Given the description of an element on the screen output the (x, y) to click on. 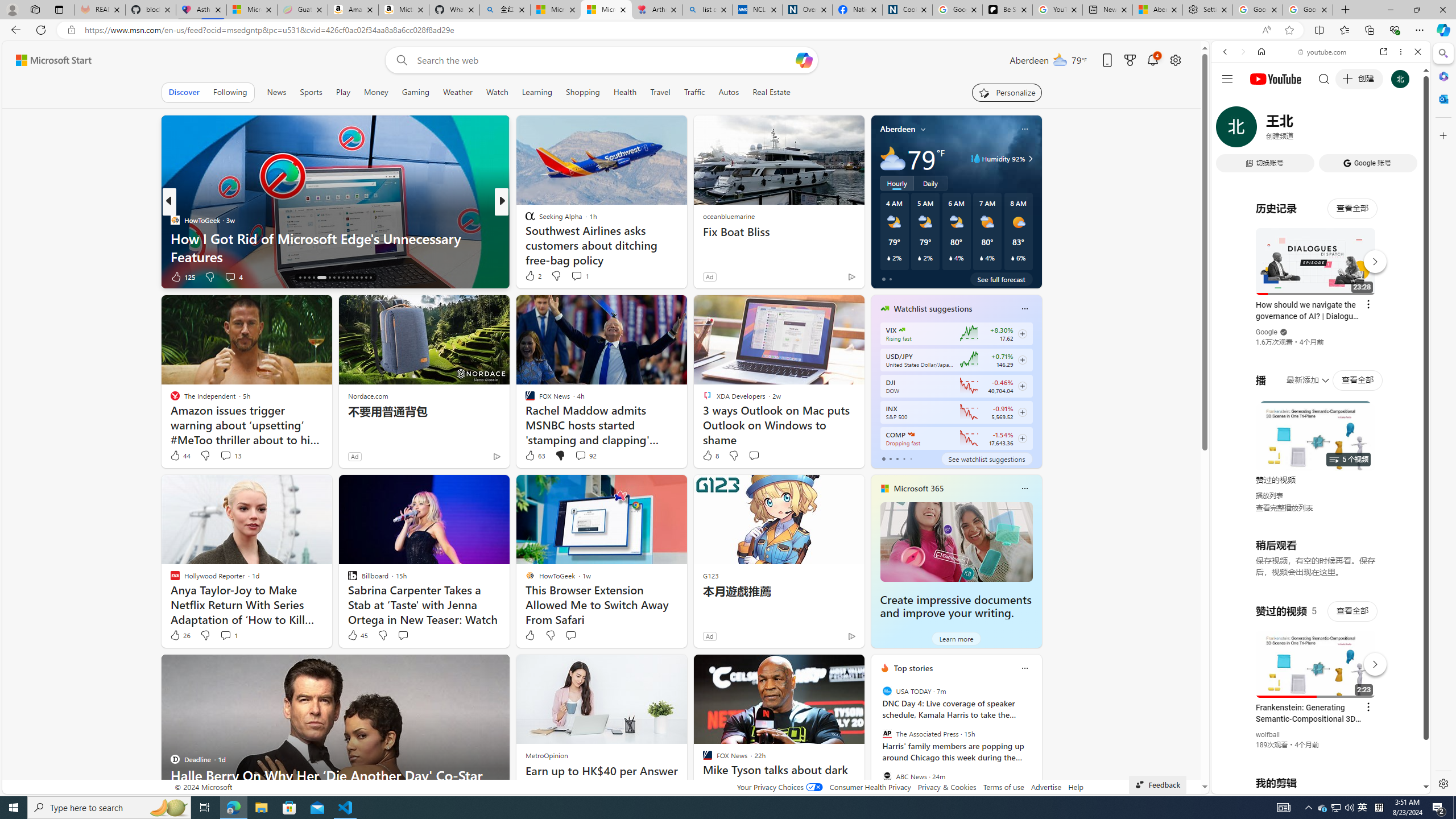
2 Like (532, 275)
View comments 25 Comment (576, 276)
